Given the description of an element on the screen output the (x, y) to click on. 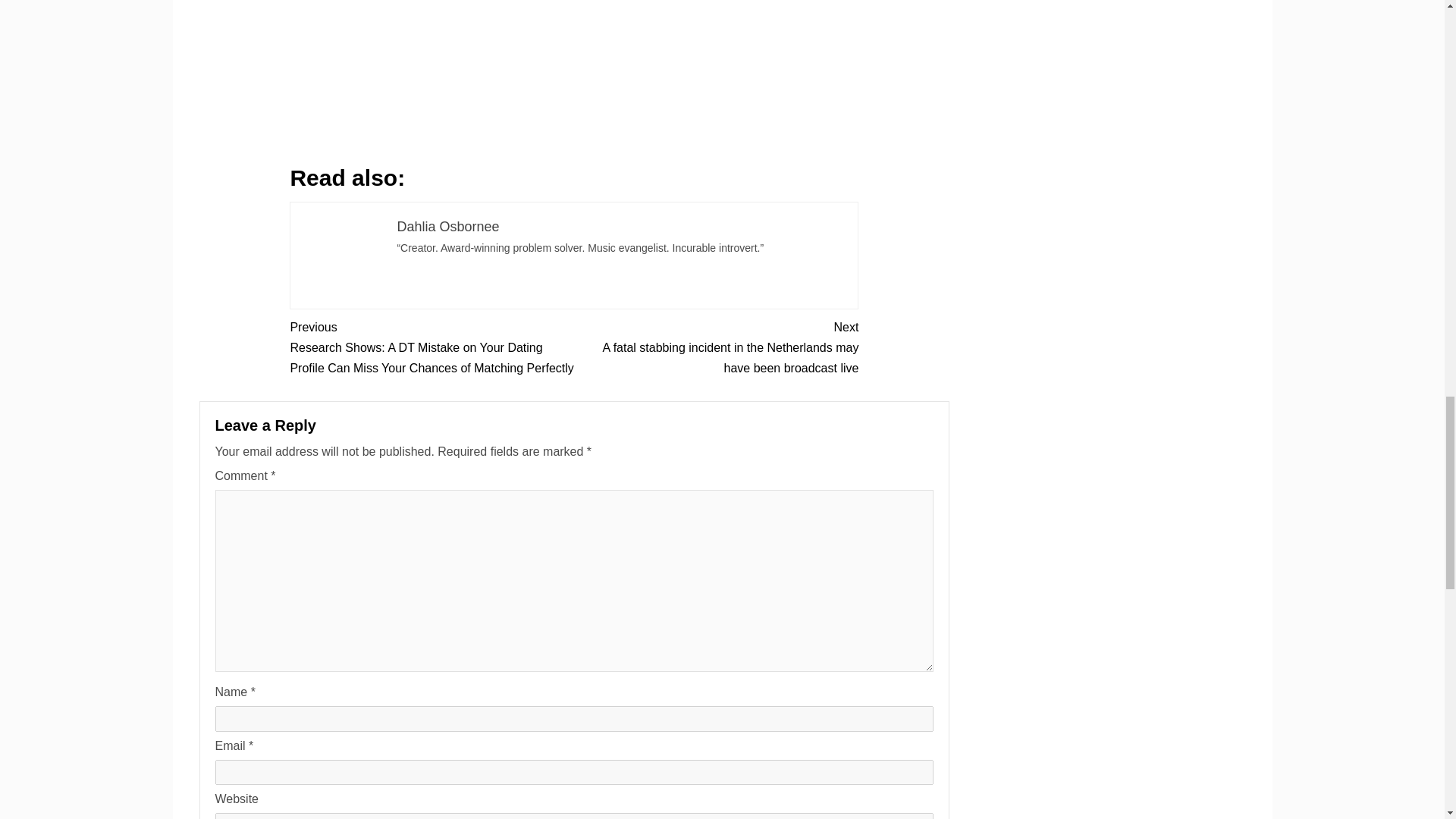
Dahlia Osbornee (447, 226)
